Given the description of an element on the screen output the (x, y) to click on. 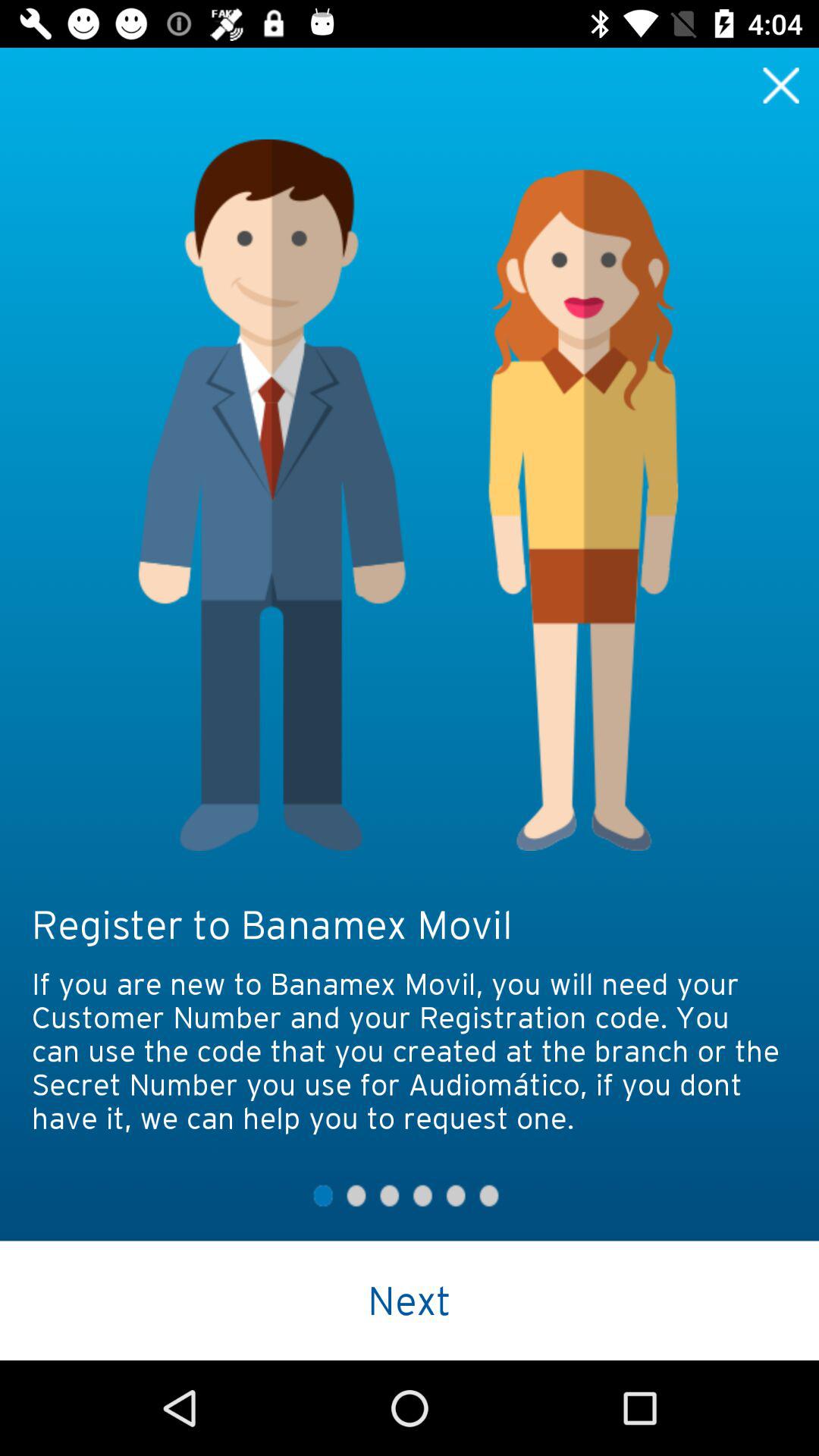
exit this page (781, 85)
